Given the description of an element on the screen output the (x, y) to click on. 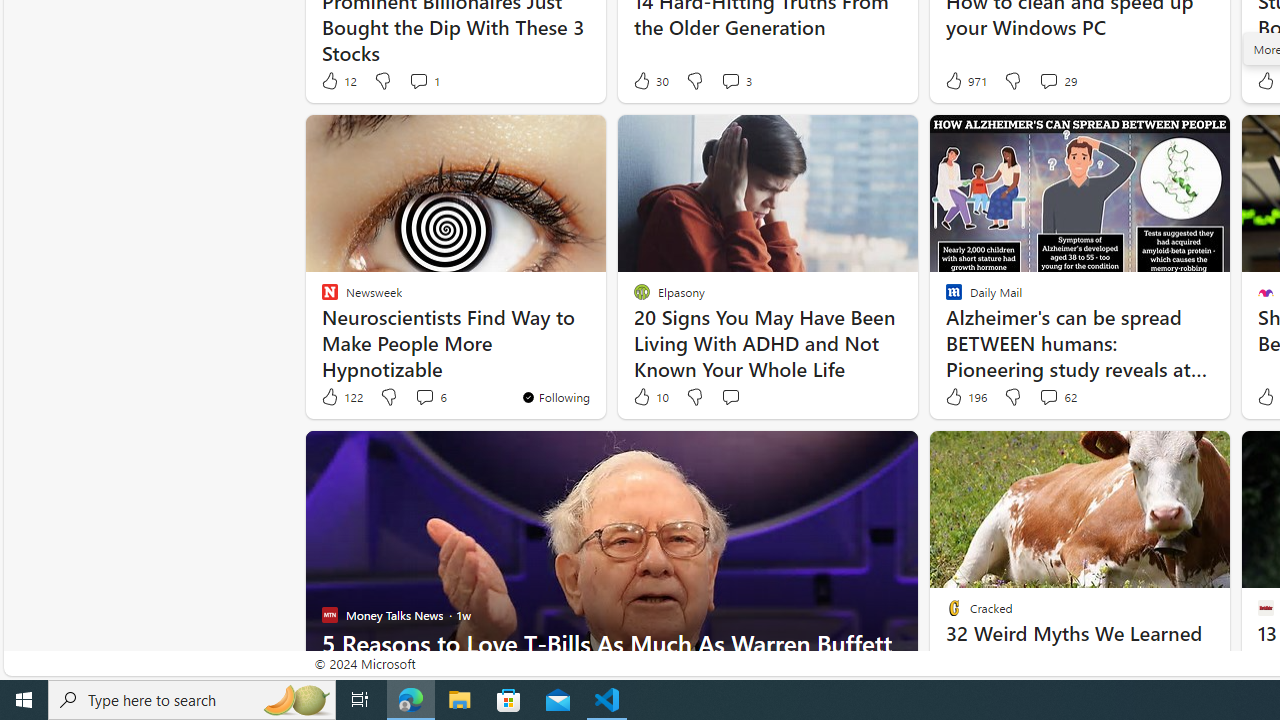
12 Like (337, 80)
View comments 29 Comment (1048, 80)
View comments 62 Comment (1057, 397)
196 Like (964, 397)
View comments 6 Comment (424, 396)
